Given the description of an element on the screen output the (x, y) to click on. 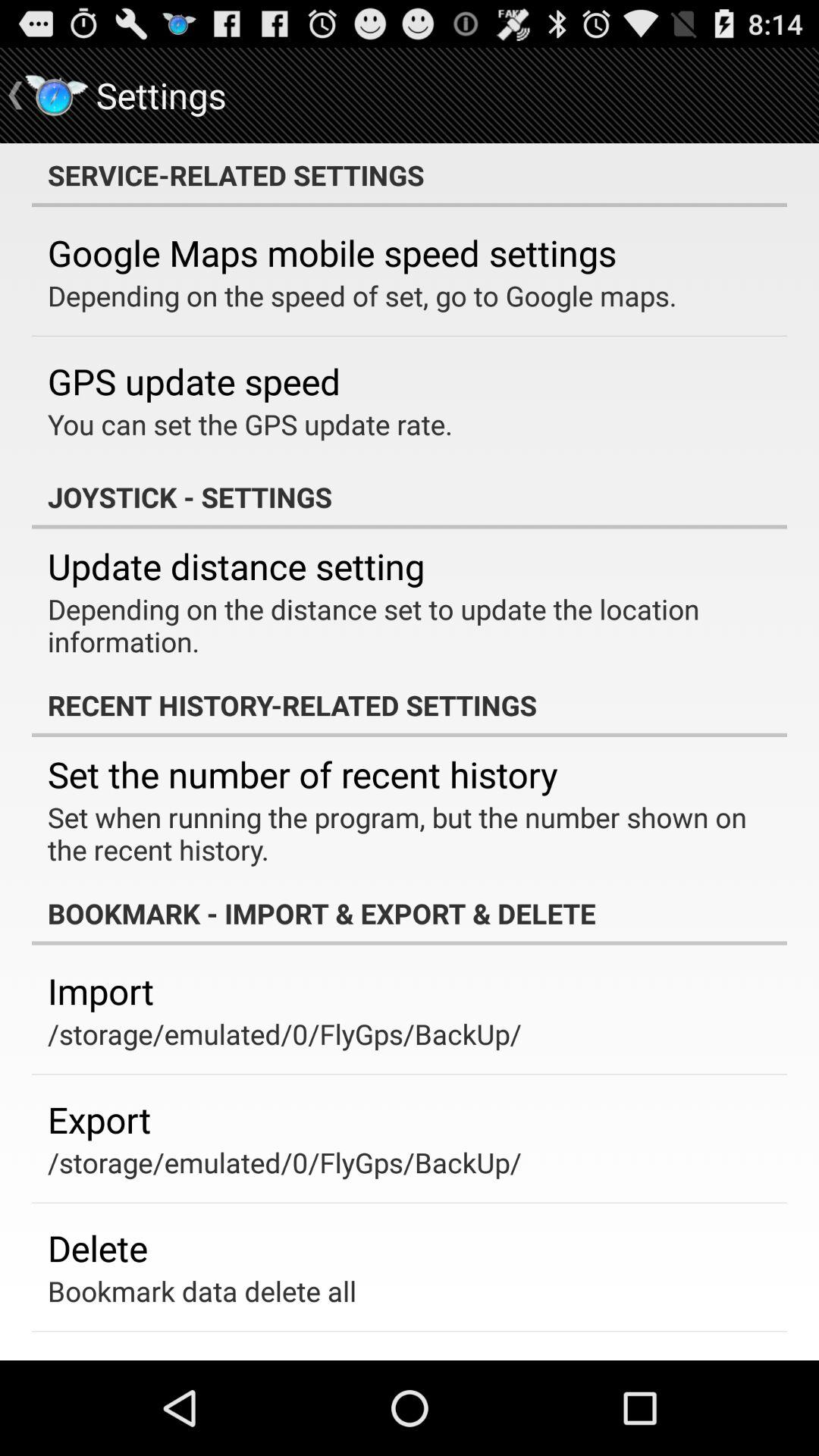
open app above the joystick - settings item (249, 424)
